Given the description of an element on the screen output the (x, y) to click on. 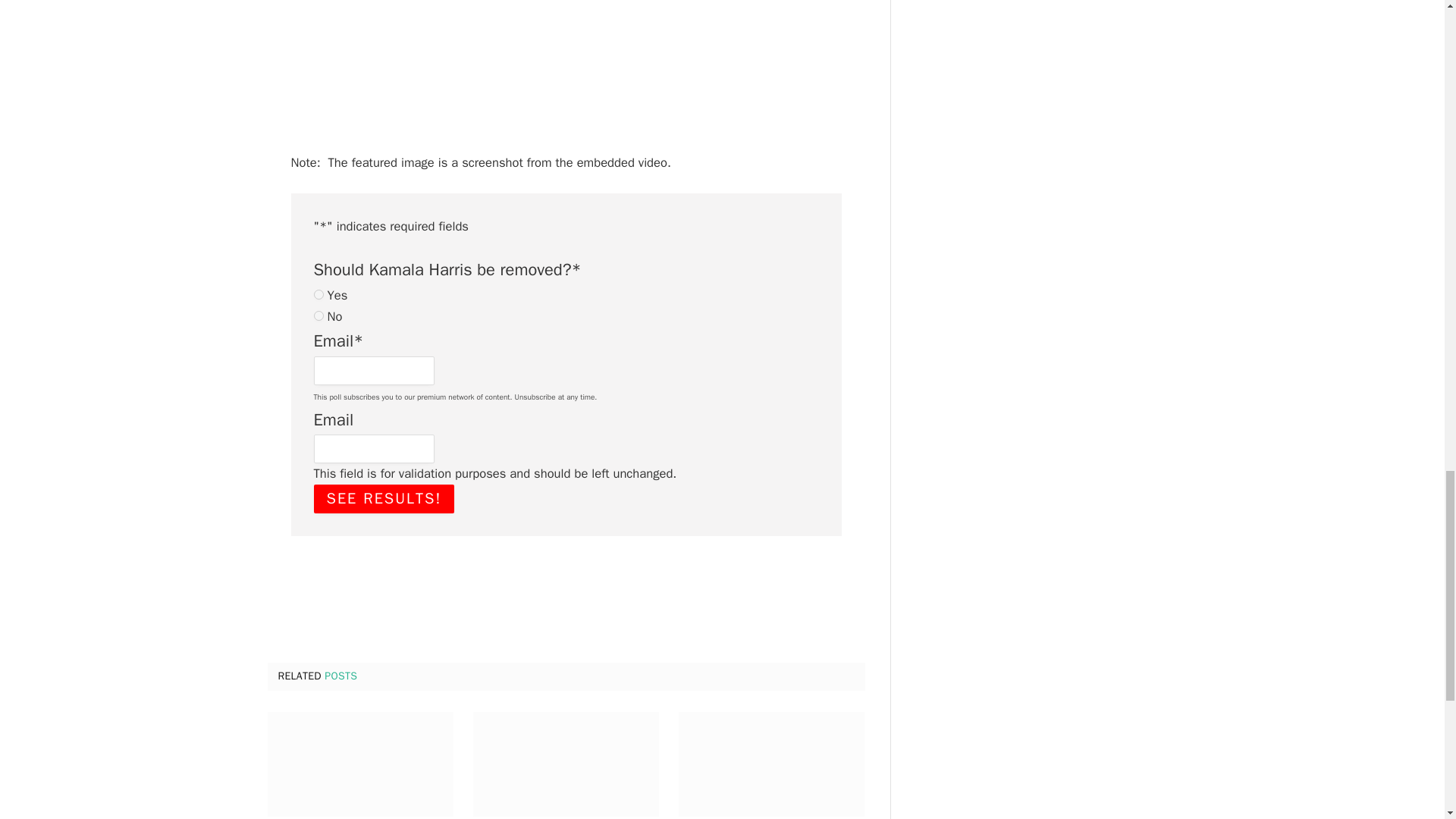
See Results! (384, 498)
See Results! (384, 498)
gpoll1b2a53ce5 (318, 316)
gpoll1b5b3d8f6 (318, 294)
